Given the description of an element on the screen output the (x, y) to click on. 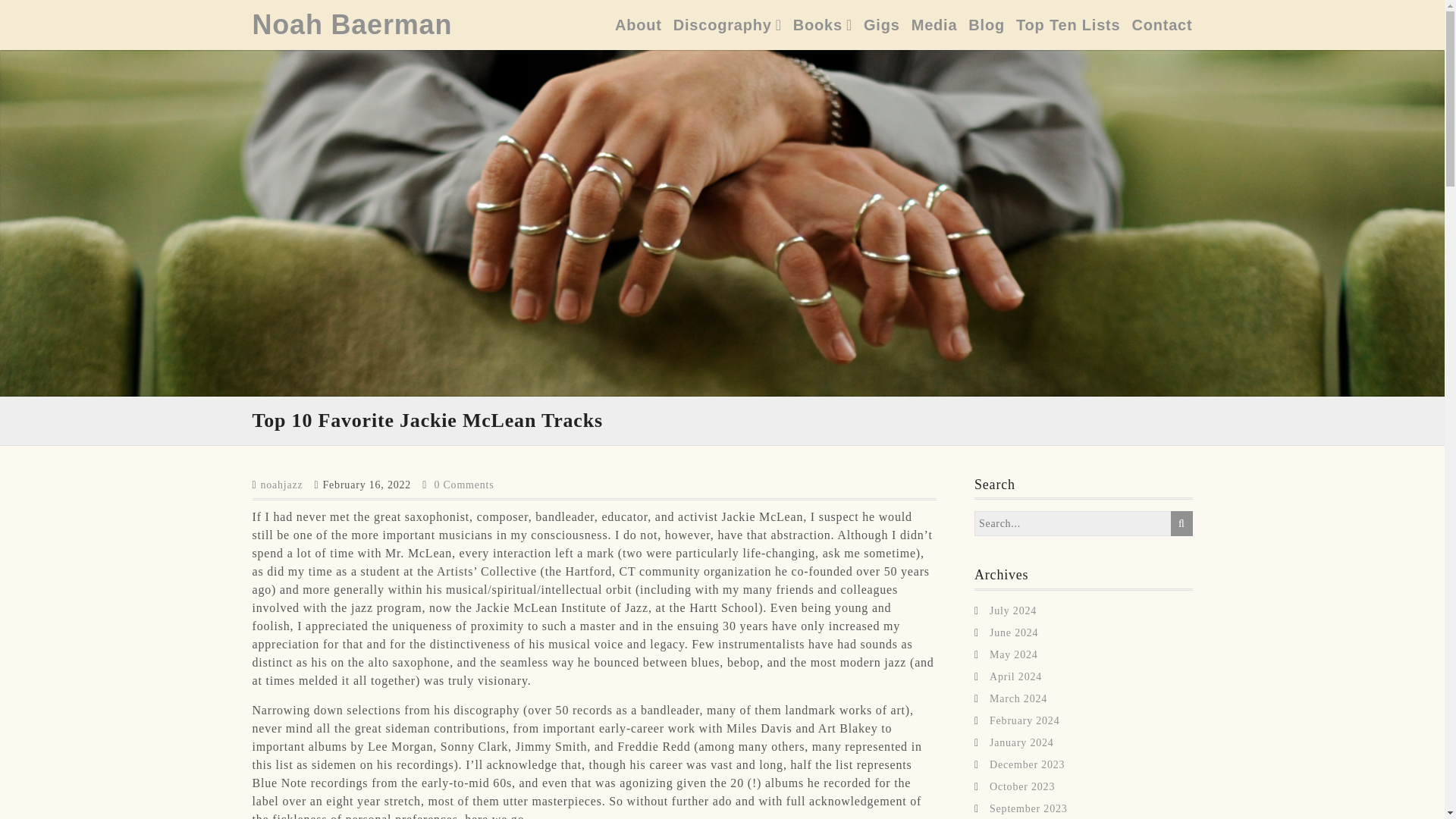
Top Ten Lists (1067, 24)
Discography (726, 24)
Media (934, 24)
Blog (986, 24)
0 Comments (463, 484)
Noah Baerman (351, 24)
Books (822, 24)
Contact (1161, 24)
Gigs (881, 24)
noahjazz (281, 484)
